Given the description of an element on the screen output the (x, y) to click on. 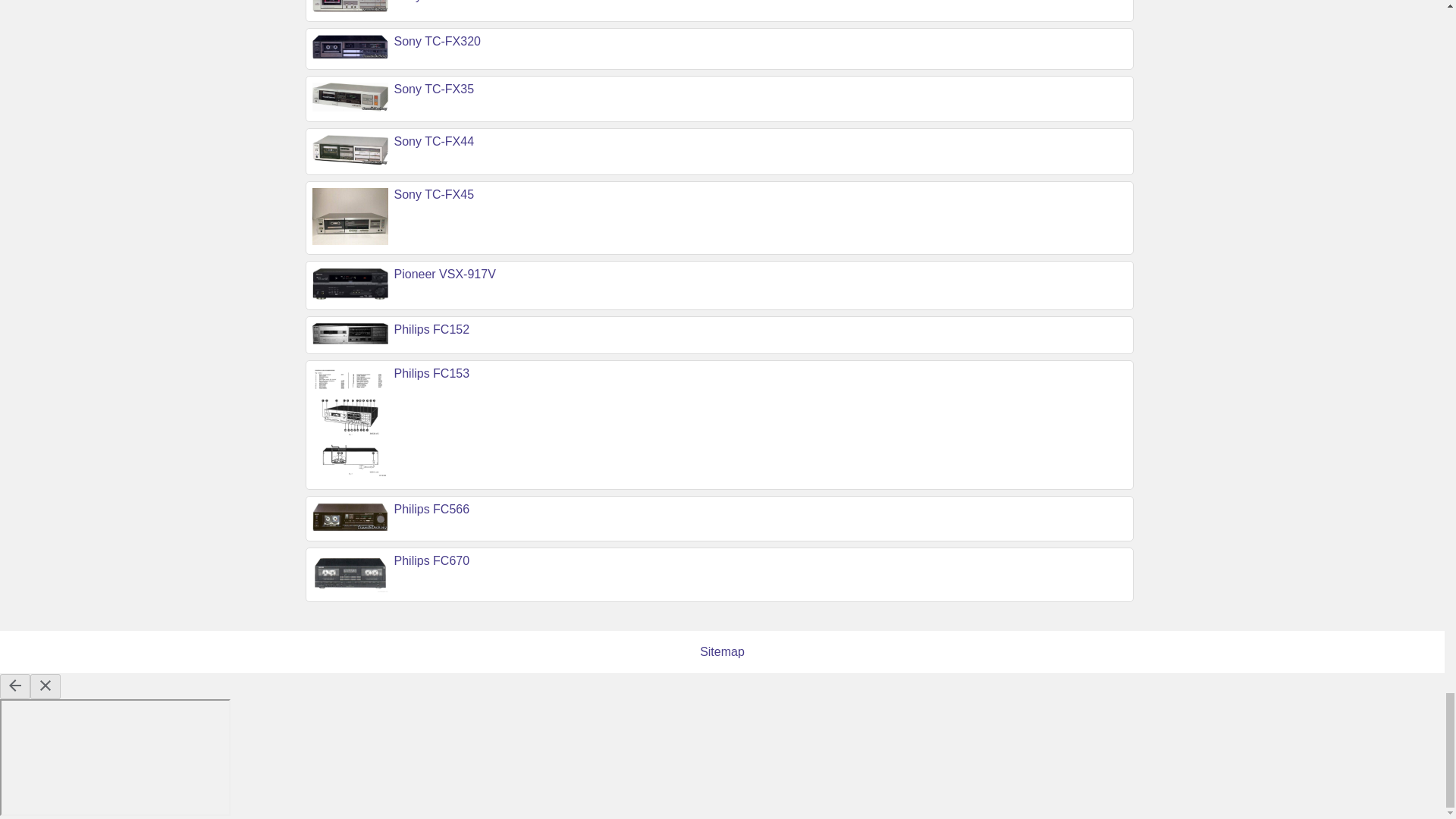
Sony TC-FX45 (434, 194)
Pioneer VSX-917V (445, 273)
Philips FC152 (432, 328)
Philips FC670 (432, 560)
Sitemap (722, 651)
Sony TC-FX35 (434, 88)
Sony TC-FX320 (437, 41)
Philips FC153 (432, 373)
Sony TC-FX44 (434, 141)
Philips FC566 (432, 508)
Sony TC-FX25 (434, 1)
